Given the description of an element on the screen output the (x, y) to click on. 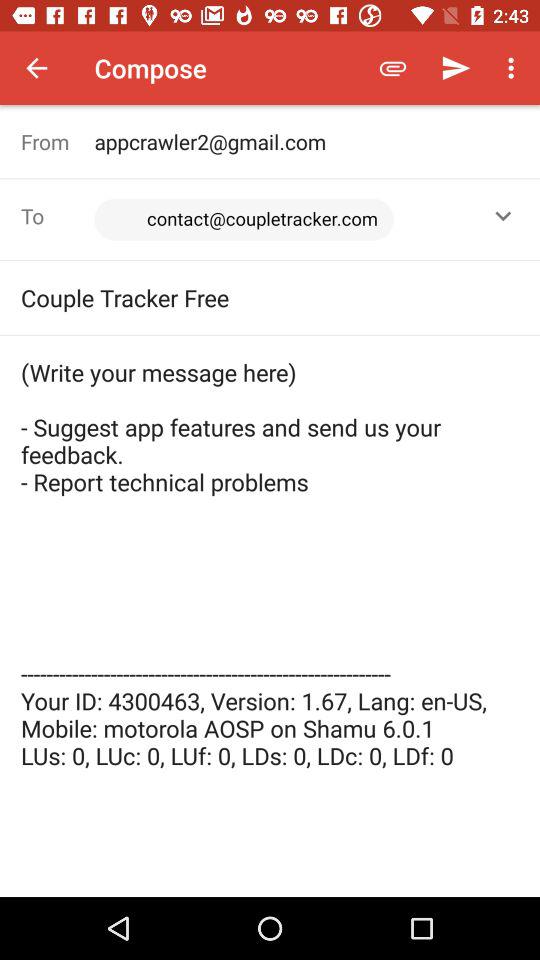
press the icon to the right of the from item (275, 219)
